Given the description of an element on the screen output the (x, y) to click on. 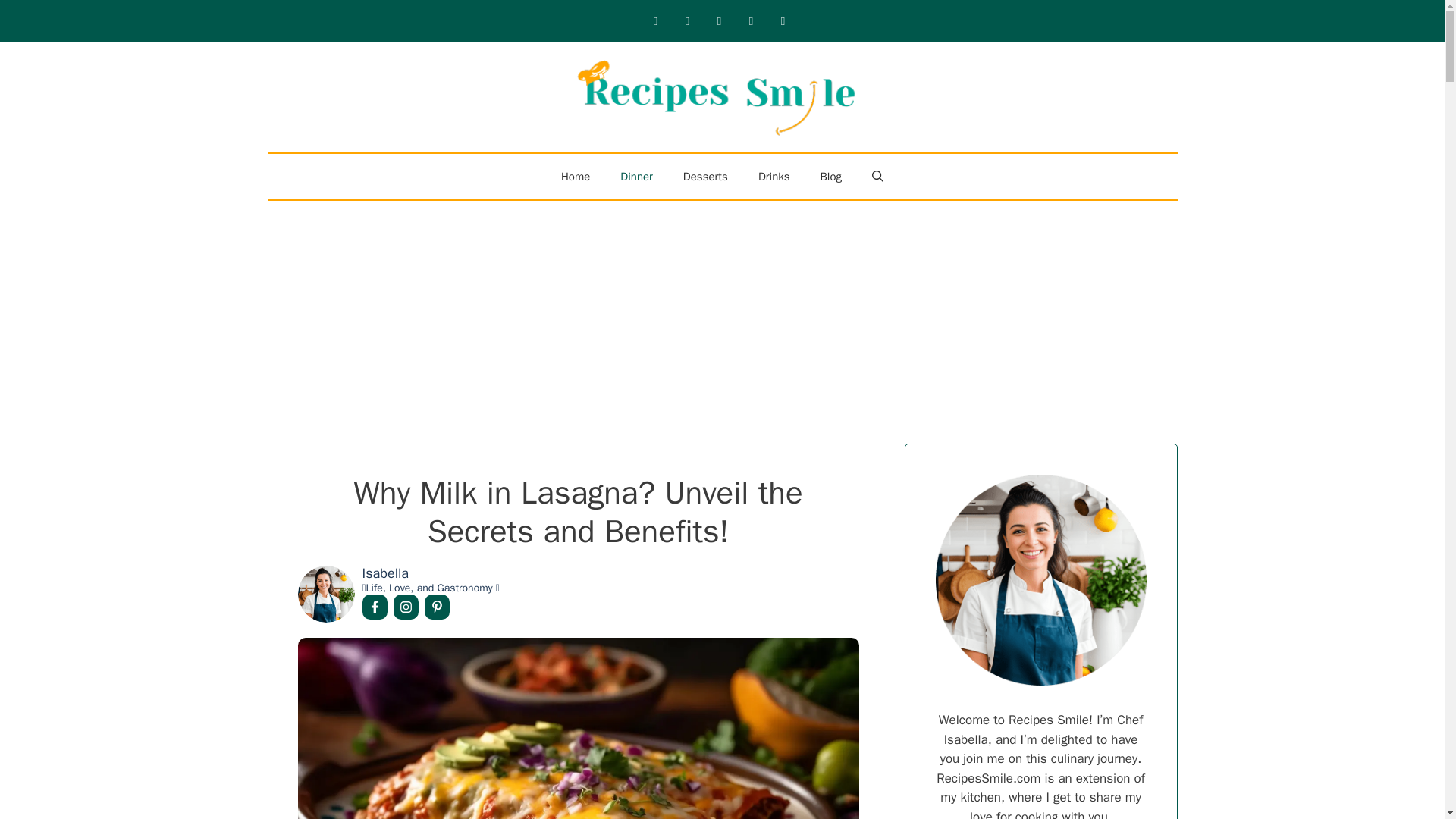
Instagram (687, 21)
Home (575, 176)
YouTube (783, 21)
Blog (831, 176)
Drinks (773, 176)
Dinner (636, 176)
Twitter (751, 21)
Desserts (705, 176)
Pinterest (719, 21)
Facebook (655, 21)
